Given the description of an element on the screen output the (x, y) to click on. 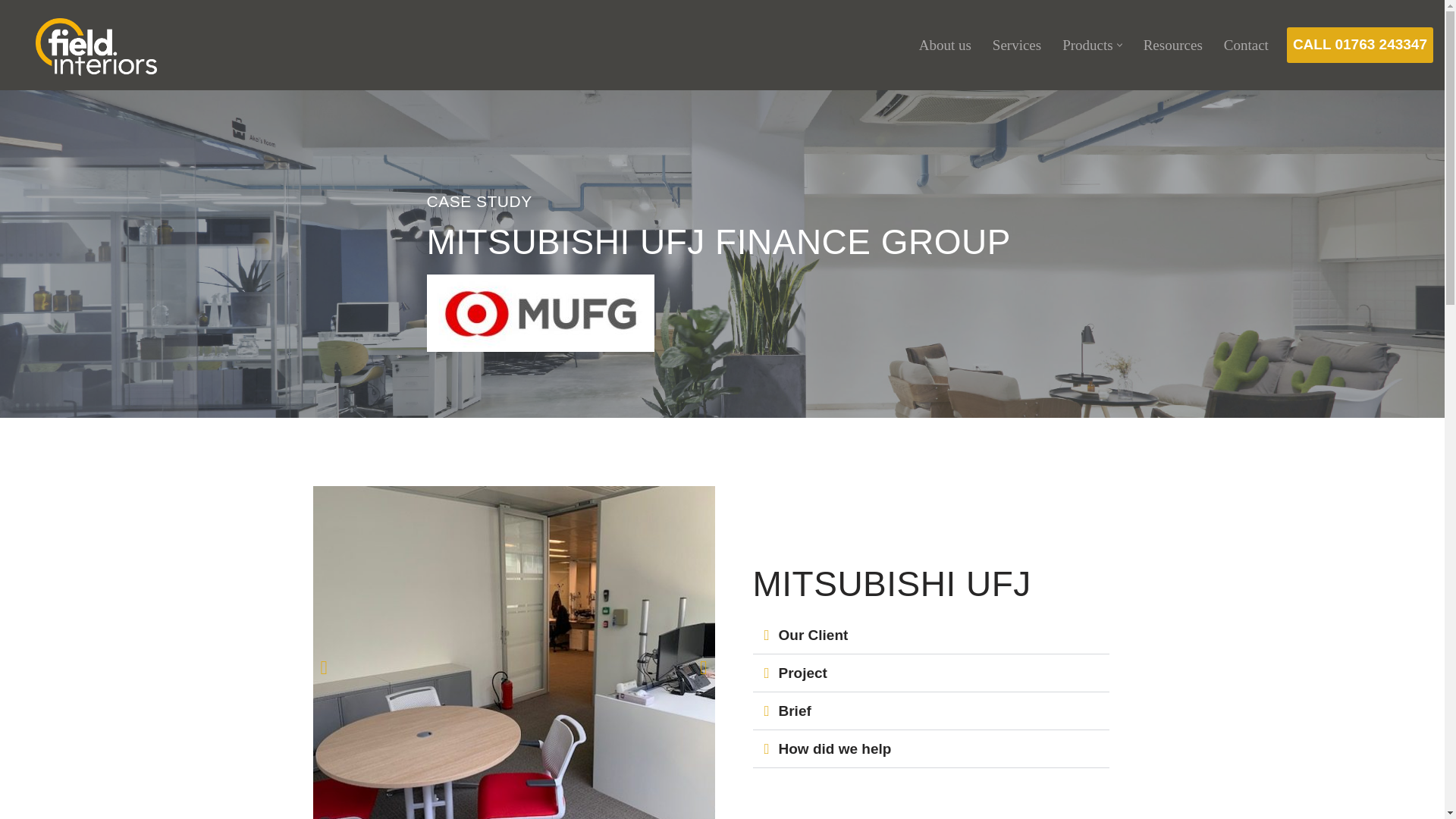
Services (1016, 44)
About us (944, 44)
Products (1087, 44)
Contact (1246, 44)
Our Client (812, 634)
CALL 01763 243347 (1359, 44)
Brief (793, 710)
Resources (1172, 44)
Project (802, 672)
How did we help (834, 748)
